Given the description of an element on the screen output the (x, y) to click on. 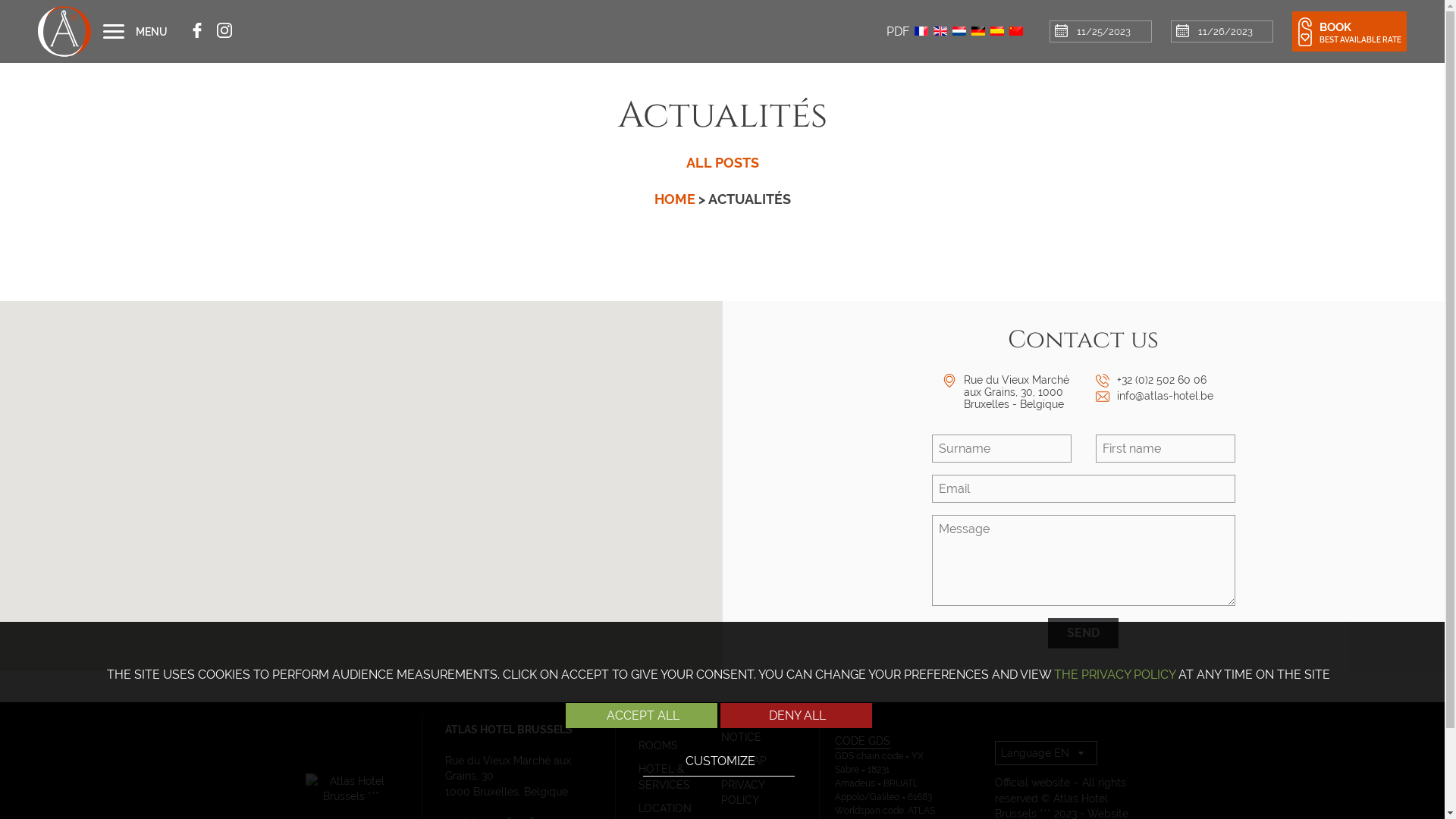
BOOK
BEST AVAILABLE RATE Element type: text (1349, 30)
Language EN Element type: text (1046, 752)
PDF FR Element type: hover (921, 30)
PDF NL Element type: hover (959, 30)
PRIVACY POLICY Element type: text (743, 792)
HOTEL & SERVICES Element type: text (664, 776)
ALL POSTS Element type: text (721, 162)
THE PRIVACY POLICY Element type: text (1114, 674)
SEND Element type: text (1083, 633)
ROOMS Element type: text (657, 745)
PDF CH Element type: hover (1015, 30)
SITEMAP Element type: text (743, 760)
LOCATION Element type: text (664, 808)
MENU Element type: text (135, 31)
LEGAL NOTICE Element type: text (741, 729)
Facebook Element type: hover (196, 31)
Instagram Element type: hover (224, 31)
HOME Element type: text (675, 199)
PDF GER Element type: hover (978, 30)
PDF EN Element type: hover (940, 30)
PDF ES Element type: hover (997, 30)
HOME Element type: text (654, 721)
